Given the description of an element on the screen output the (x, y) to click on. 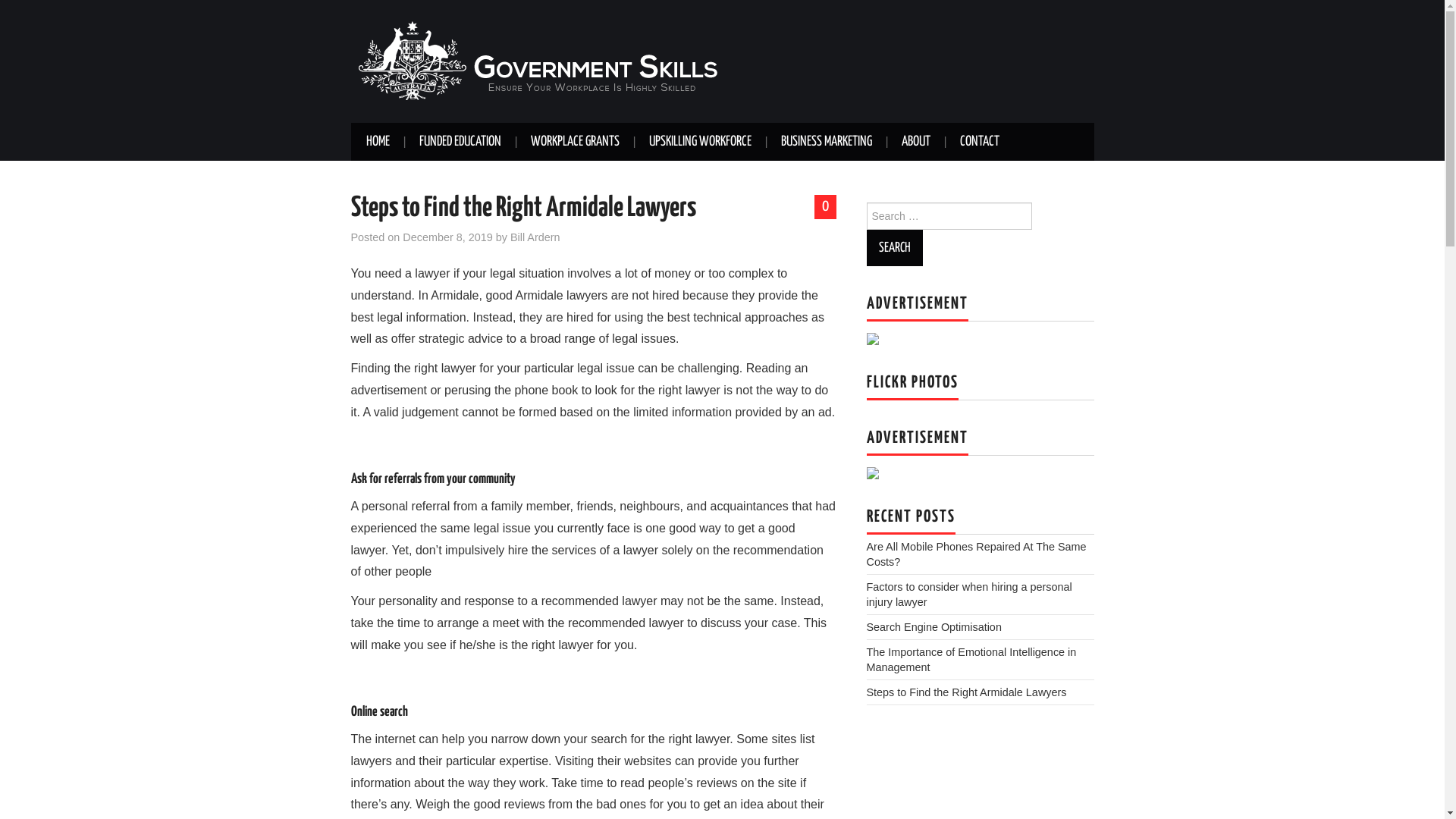
BUSINESS MARKETING Element type: text (826, 141)
Government Skills Element type: hover (539, 59)
December 8, 2019 Element type: text (447, 237)
Factors to consider when hiring a personal injury lawyer Element type: text (968, 594)
Steps to Find the Right Armidale Lawyers Element type: text (966, 692)
UPSKILLING WORKFORCE Element type: text (699, 141)
0 Element type: text (825, 206)
The Importance of Emotional Intelligence in Management Element type: text (971, 659)
Search for: Element type: hover (948, 215)
Search Engine Optimisation Element type: text (933, 627)
CONTACT Element type: text (979, 141)
Bill Ardern Element type: text (535, 237)
FUNDED EDUCATION Element type: text (459, 141)
HOME Element type: text (377, 141)
Are All Mobile Phones Repaired At The Same Costs? Element type: text (975, 553)
ABOUT Element type: text (914, 141)
WORKPLACE GRANTS Element type: text (574, 141)
Search Element type: text (894, 247)
